Given the description of an element on the screen output the (x, y) to click on. 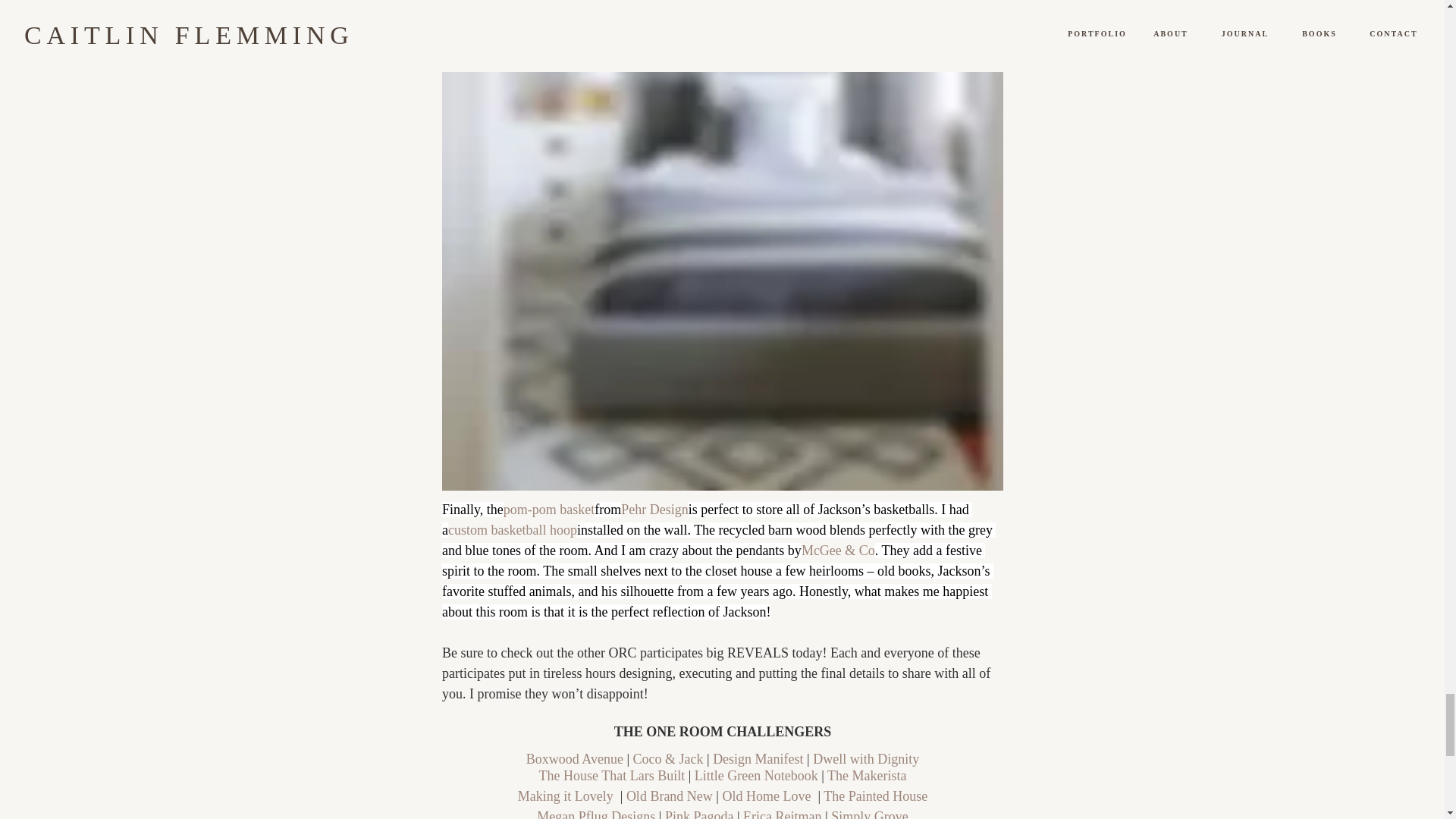
Making it Lovely (564, 795)
Boxwood Avenue (574, 758)
Dwell with Dignity (865, 758)
The Makerista (866, 775)
pom-pom basket (548, 509)
custom basketball hoop (511, 529)
Little Green Notebook (755, 775)
Design Manifest (758, 758)
Pehr Design (654, 509)
The House That Lars Built (611, 775)
